Given the description of an element on the screen output the (x, y) to click on. 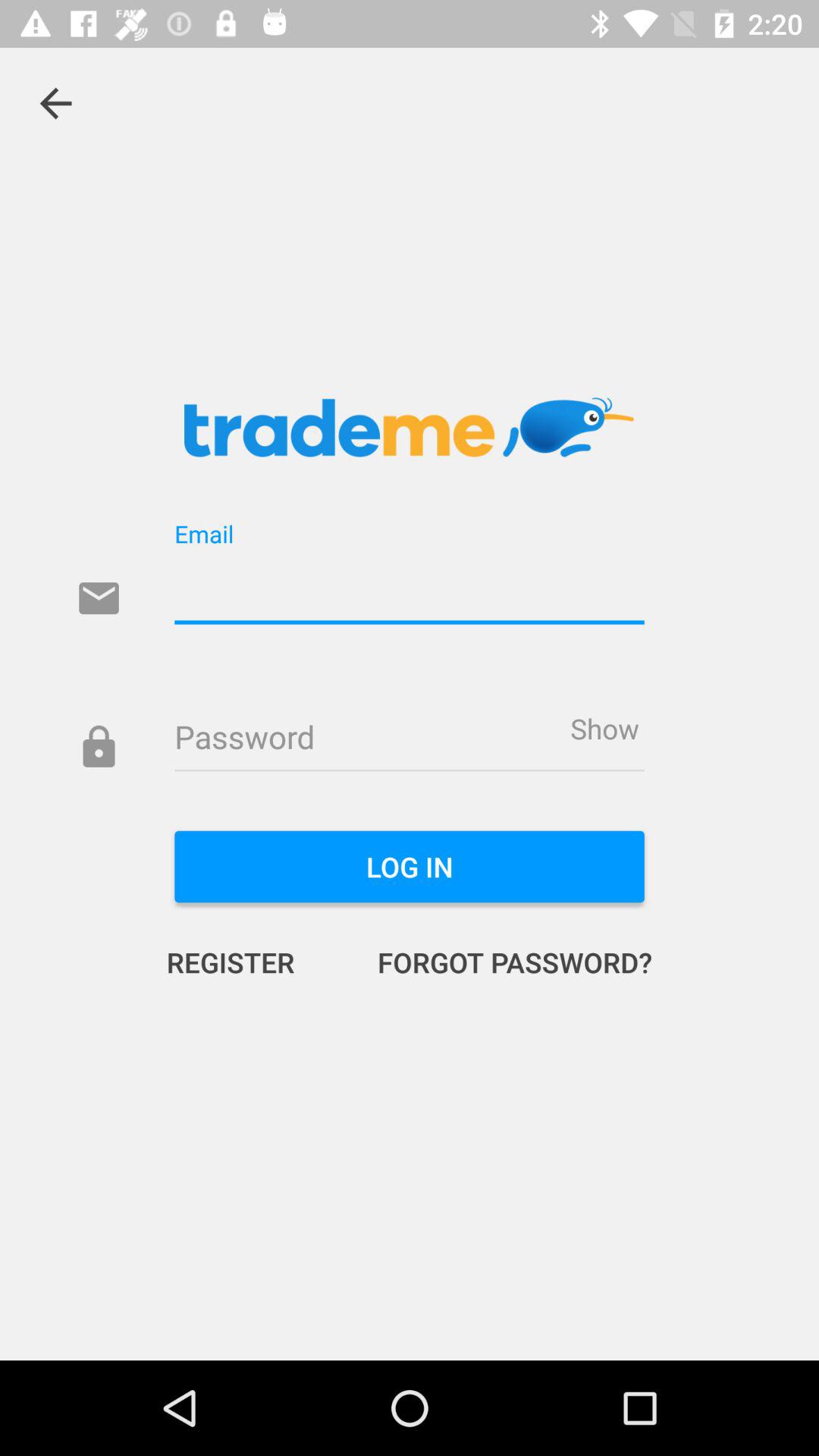
press the icon at the top left corner (55, 103)
